Given the description of an element on the screen output the (x, y) to click on. 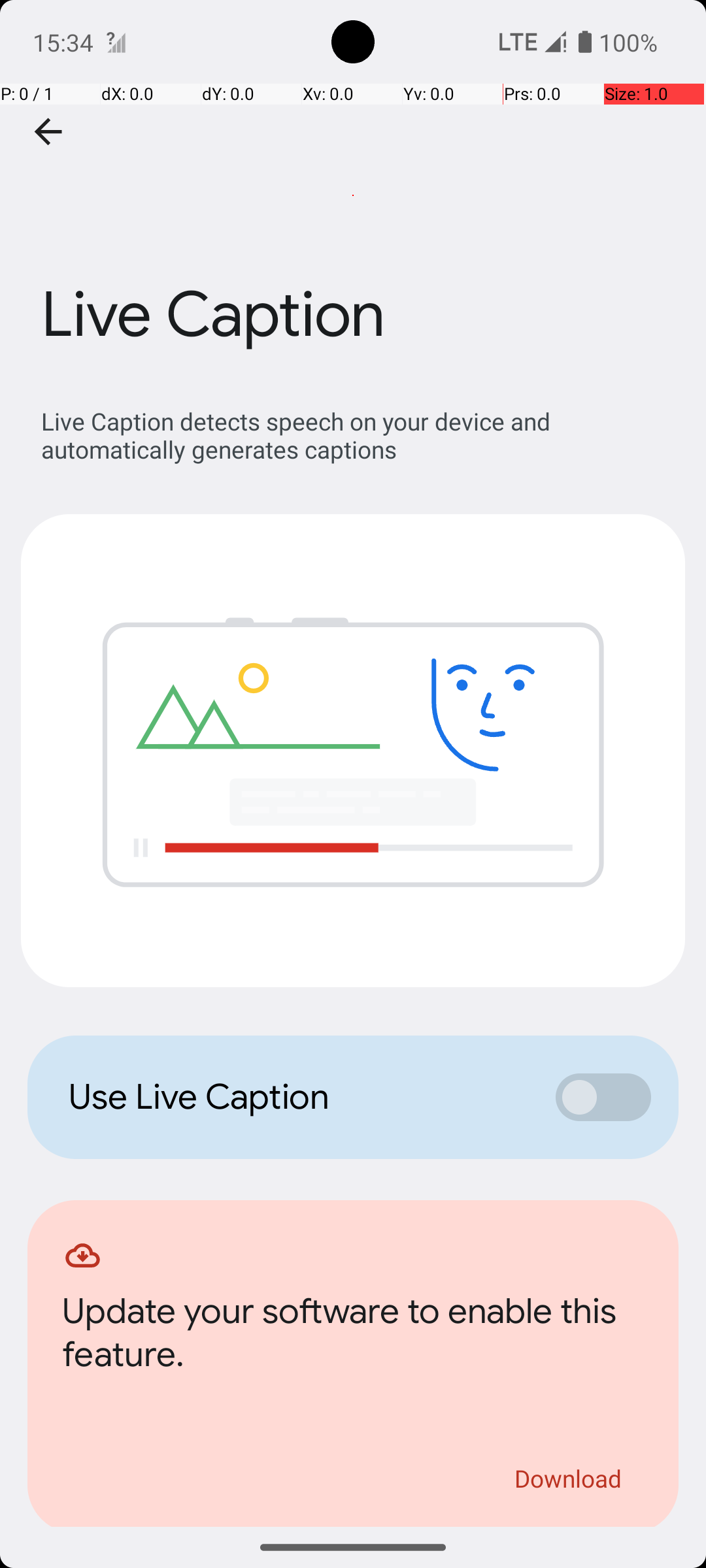
Live Caption detects speech on your device and automatically generates captions Element type: android.widget.TextView (359, 434)
Use Live Caption Element type: android.widget.TextView (298, 1096)
Update your software to enable this feature. Element type: android.widget.TextView (352, 1336)
